Given the description of an element on the screen output the (x, y) to click on. 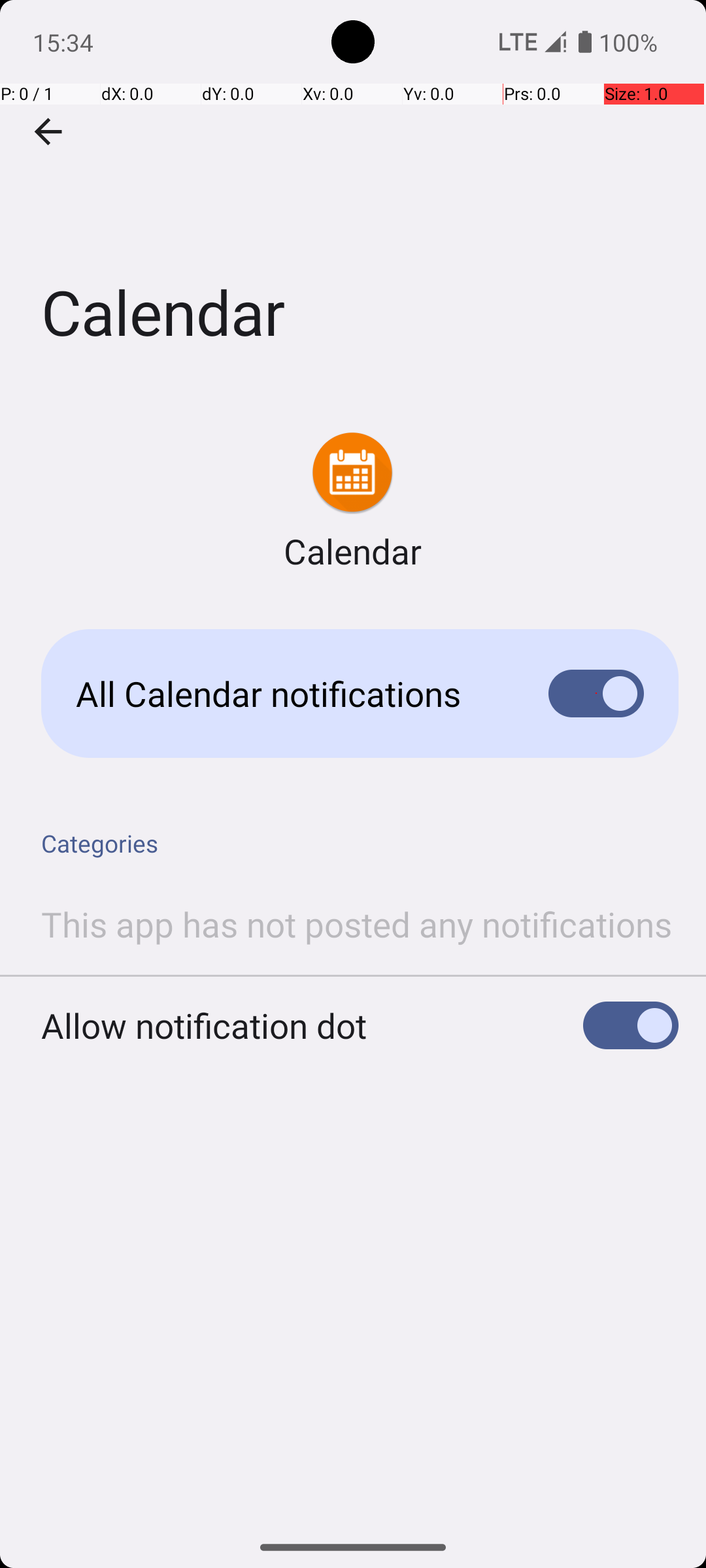
All Calendar notifications Element type: android.widget.TextView (291, 693)
This app has not posted any notifications Element type: android.widget.TextView (356, 923)
Allow notification dot Element type: android.widget.TextView (203, 1025)
